Given the description of an element on the screen output the (x, y) to click on. 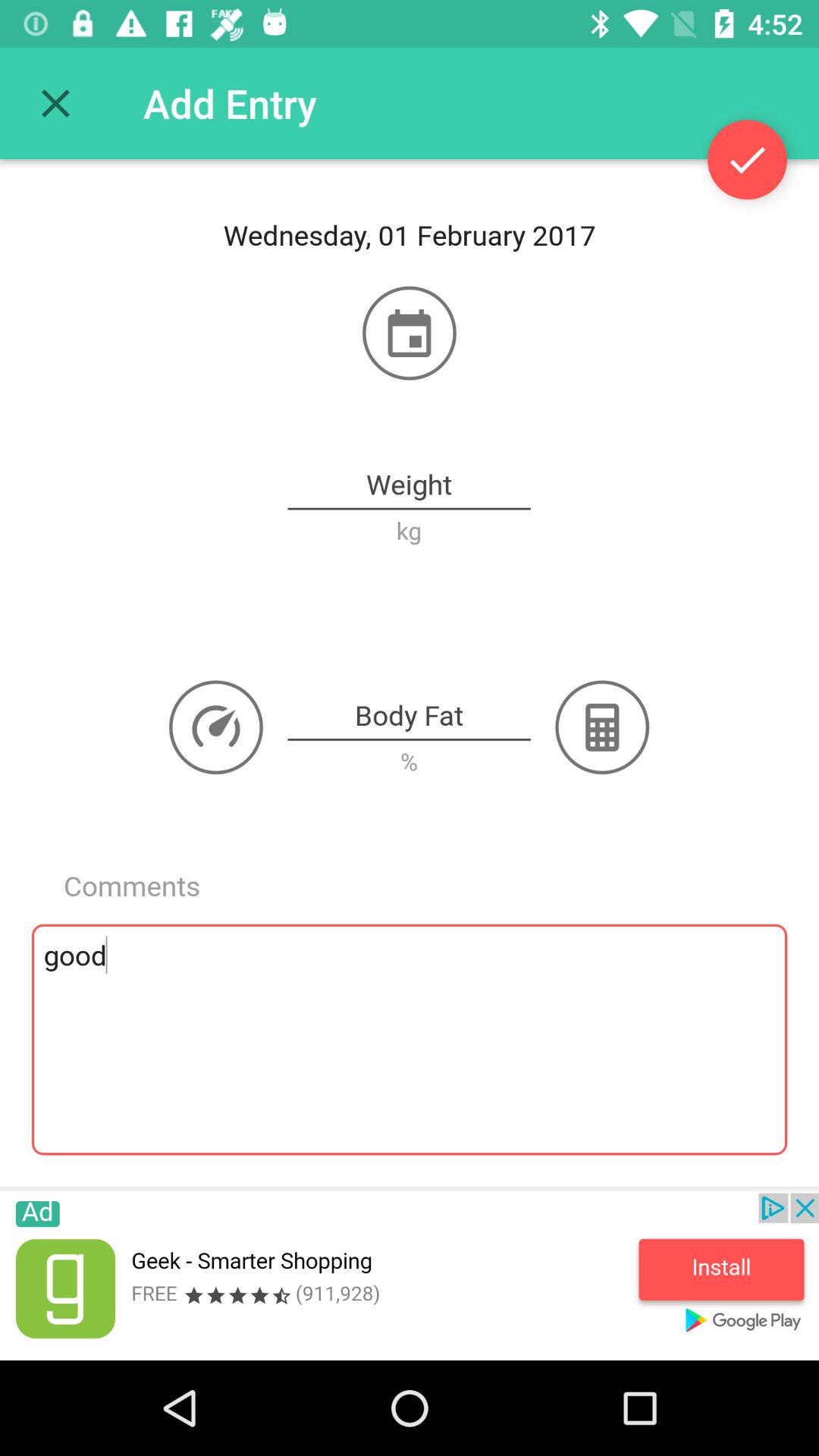
go to calendar (409, 333)
